Given the description of an element on the screen output the (x, y) to click on. 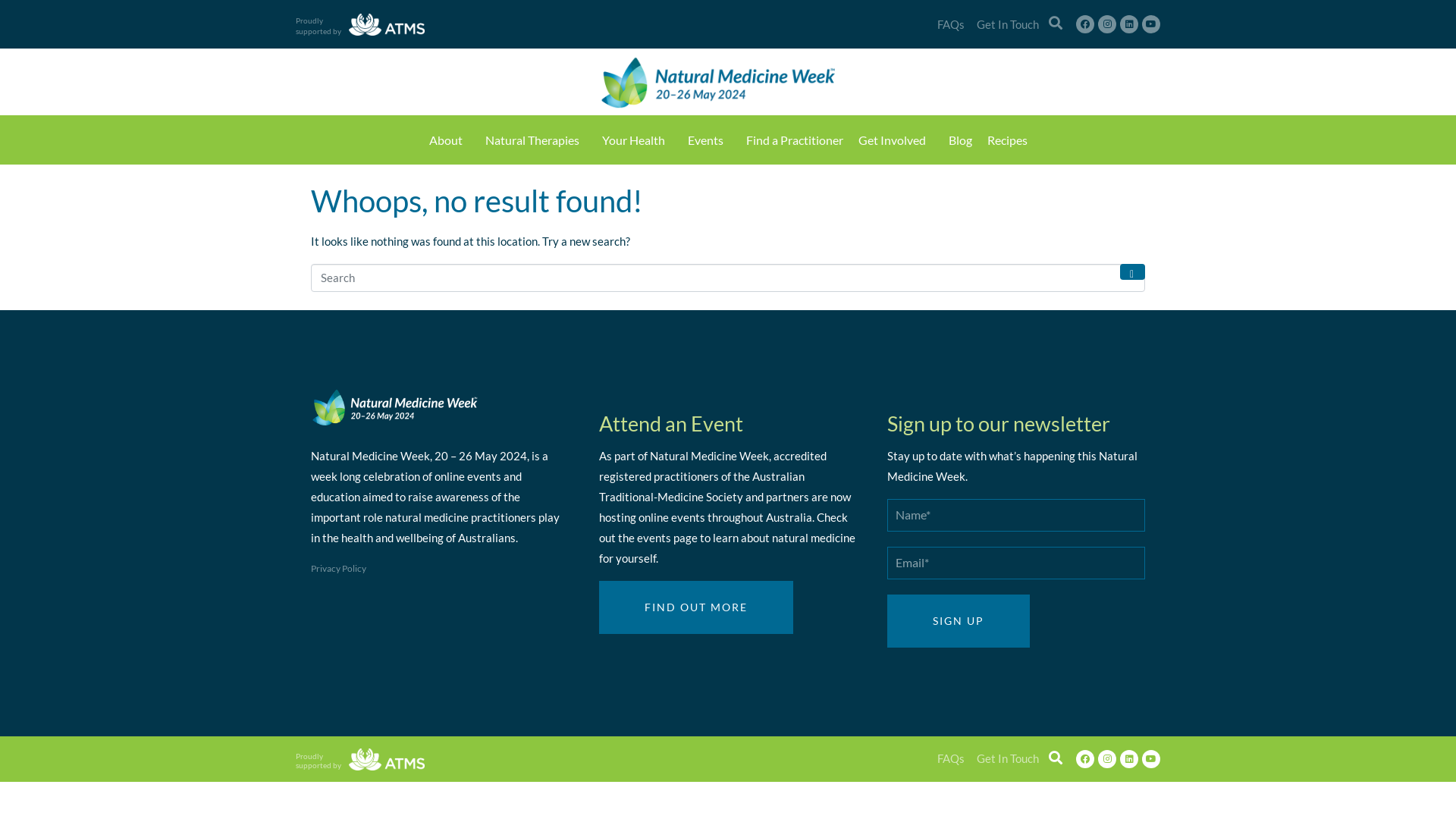
Recipes Element type: text (1007, 139)
SIGN UP Element type: text (958, 620)
FAQs Element type: text (950, 23)
Get In Touch Element type: text (1007, 23)
FIND OUT MORE Element type: text (696, 606)
Get In Touch Element type: text (1007, 758)
Find a Practitioner Element type: text (794, 139)
FAQs Element type: text (950, 758)
Privacy Policy Element type: text (439, 568)
Events Element type: text (708, 139)
Your Health Element type: text (637, 139)
About Element type: text (449, 139)
Blog Element type: text (959, 139)
Natural Therapies Element type: text (535, 139)
Get Involved Element type: text (895, 139)
